Given the description of an element on the screen output the (x, y) to click on. 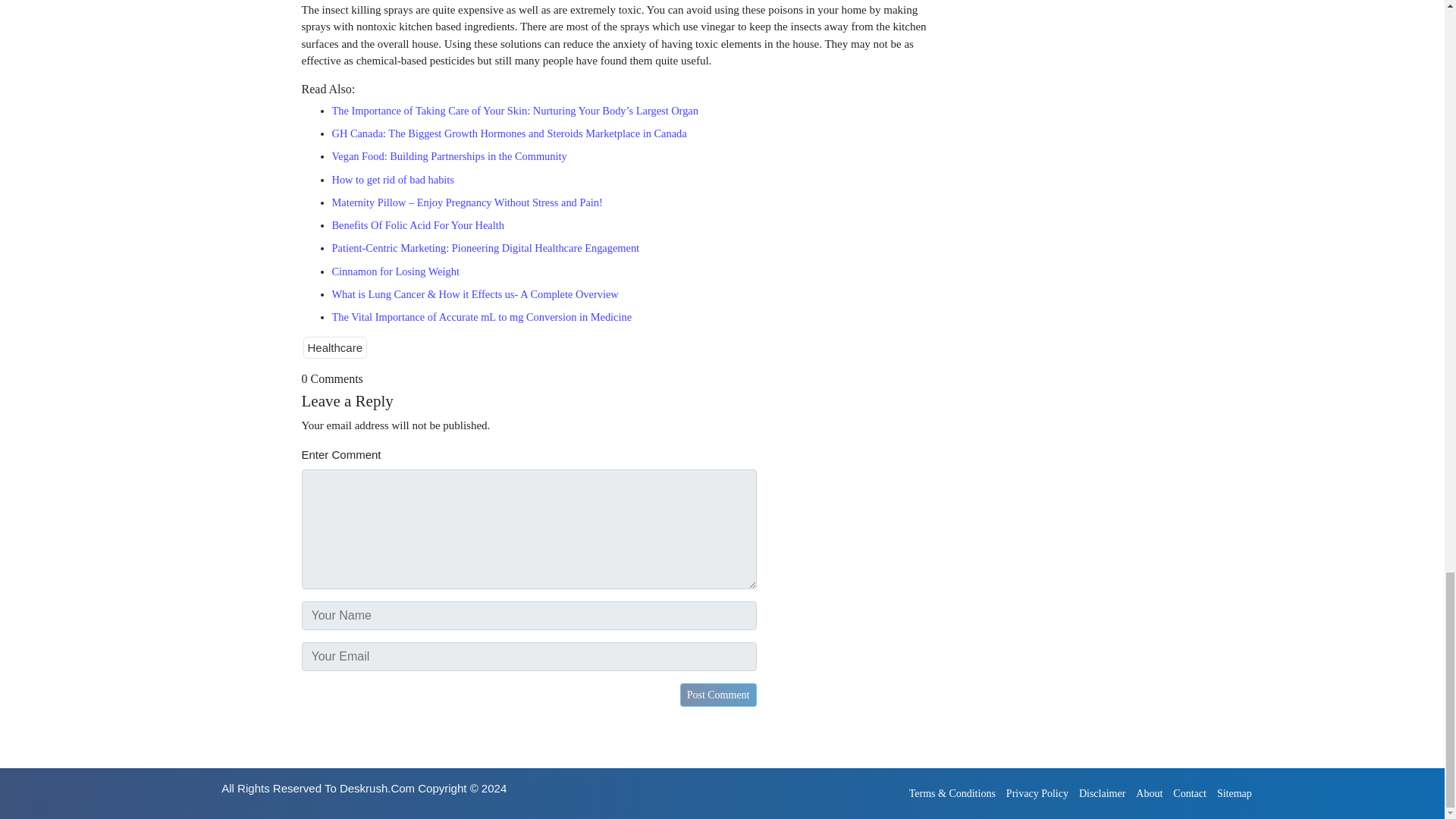
Post Comment (718, 694)
